Given the description of an element on the screen output the (x, y) to click on. 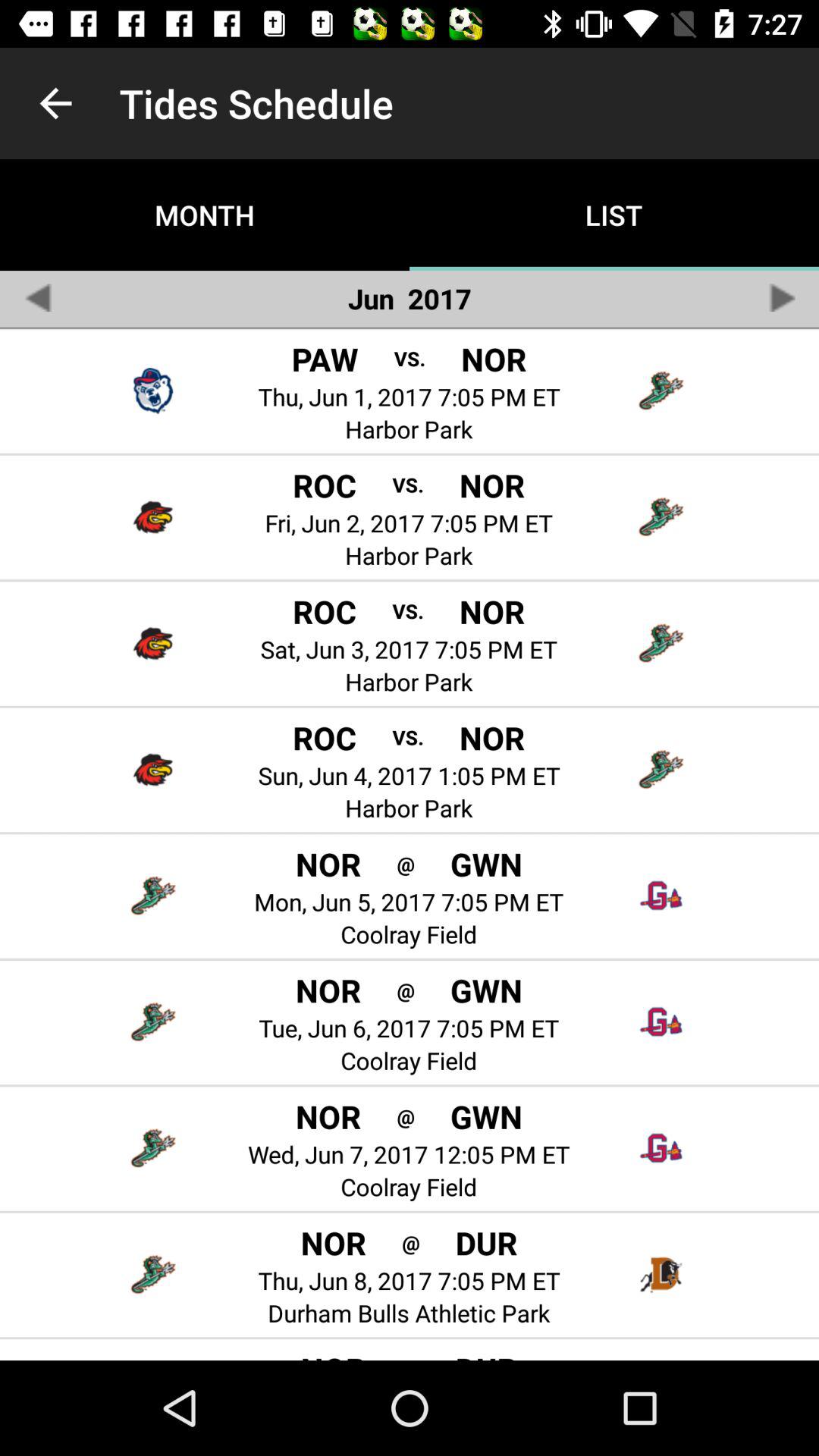
select item next to gwn (405, 863)
